Given the description of an element on the screen output the (x, y) to click on. 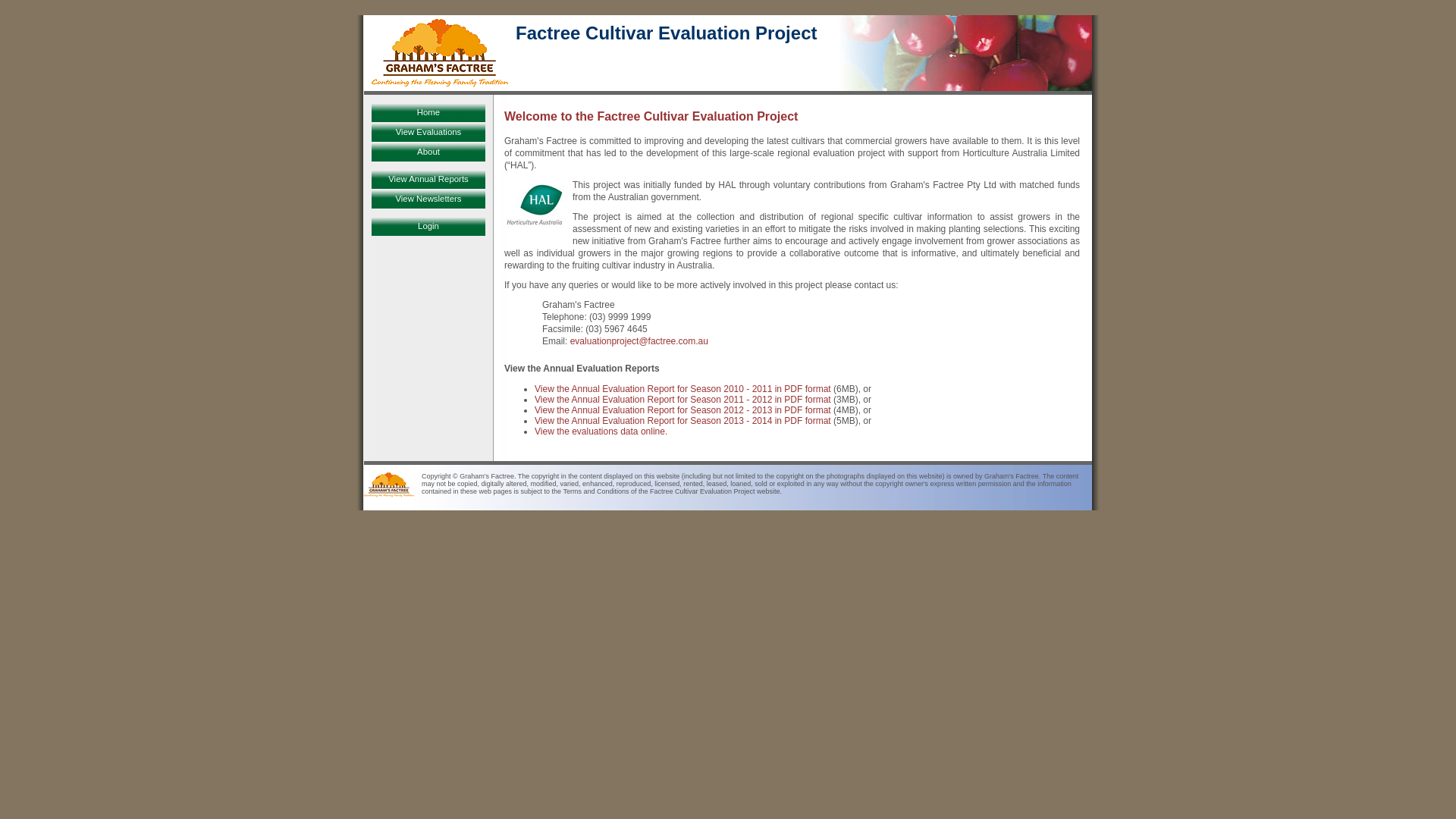
View Evaluations Element type: text (428, 131)
About Element type: text (428, 151)
Home Element type: text (428, 112)
Login Element type: text (428, 225)
View Newsletters Element type: text (428, 198)
View the evaluations data online. Element type: text (600, 431)
View Annual Reports Element type: text (428, 178)
evaluationproject@factree.com.au Element type: text (639, 340)
